Given the description of an element on the screen output the (x, y) to click on. 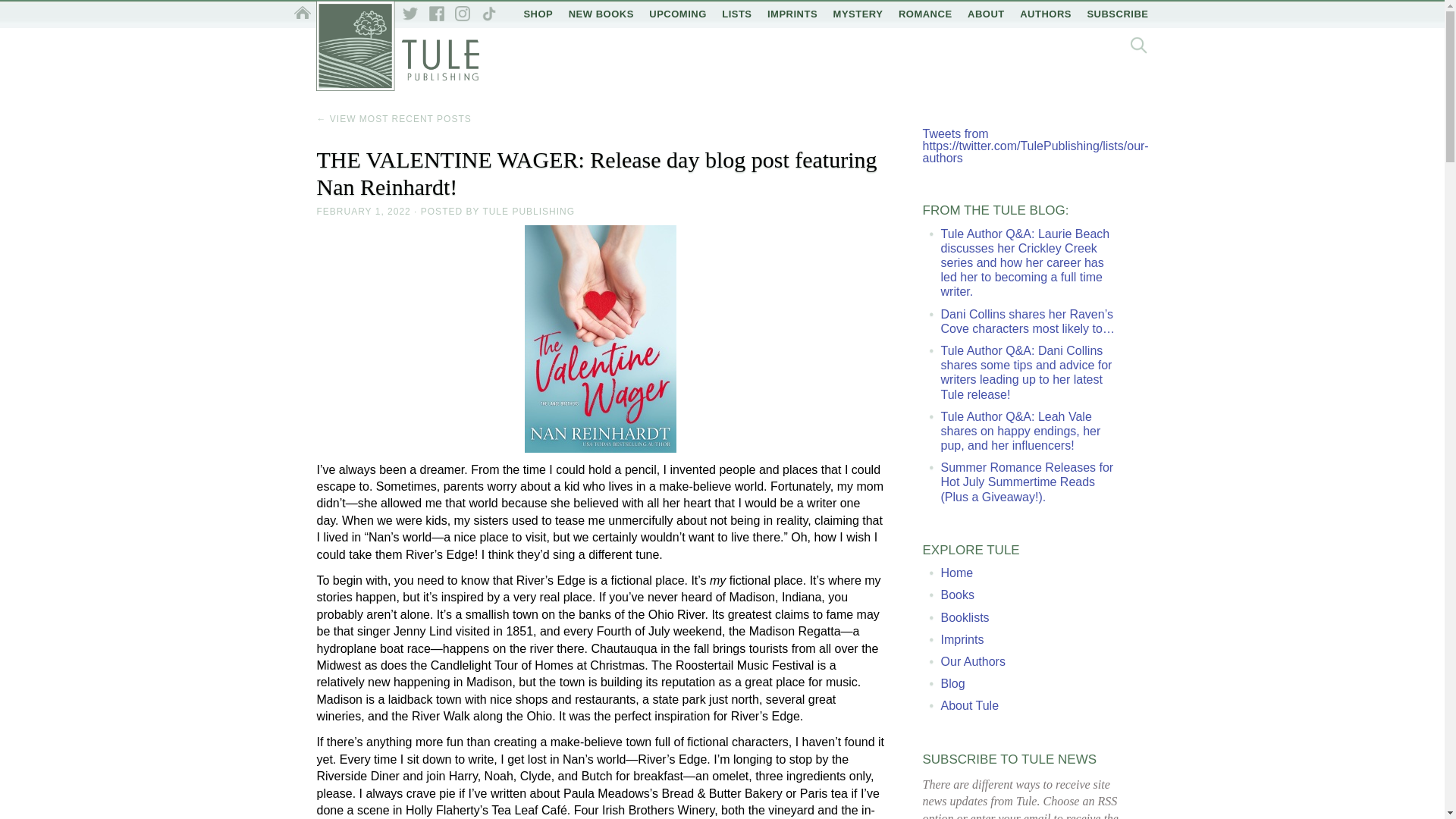
IMPRINTS (792, 13)
SHOP (537, 13)
ROMANCE (925, 13)
UPCOMING (678, 13)
MYSTERY (858, 13)
Instagram (462, 13)
NEW BOOKS (601, 13)
Twitter (410, 13)
ABOUT (985, 13)
LISTS (736, 13)
SUBSCRIBE (1117, 13)
Facebook (436, 13)
TULE PUBLISHING (528, 211)
AUTHORS (1045, 13)
TikTok (488, 13)
